Given the description of an element on the screen output the (x, y) to click on. 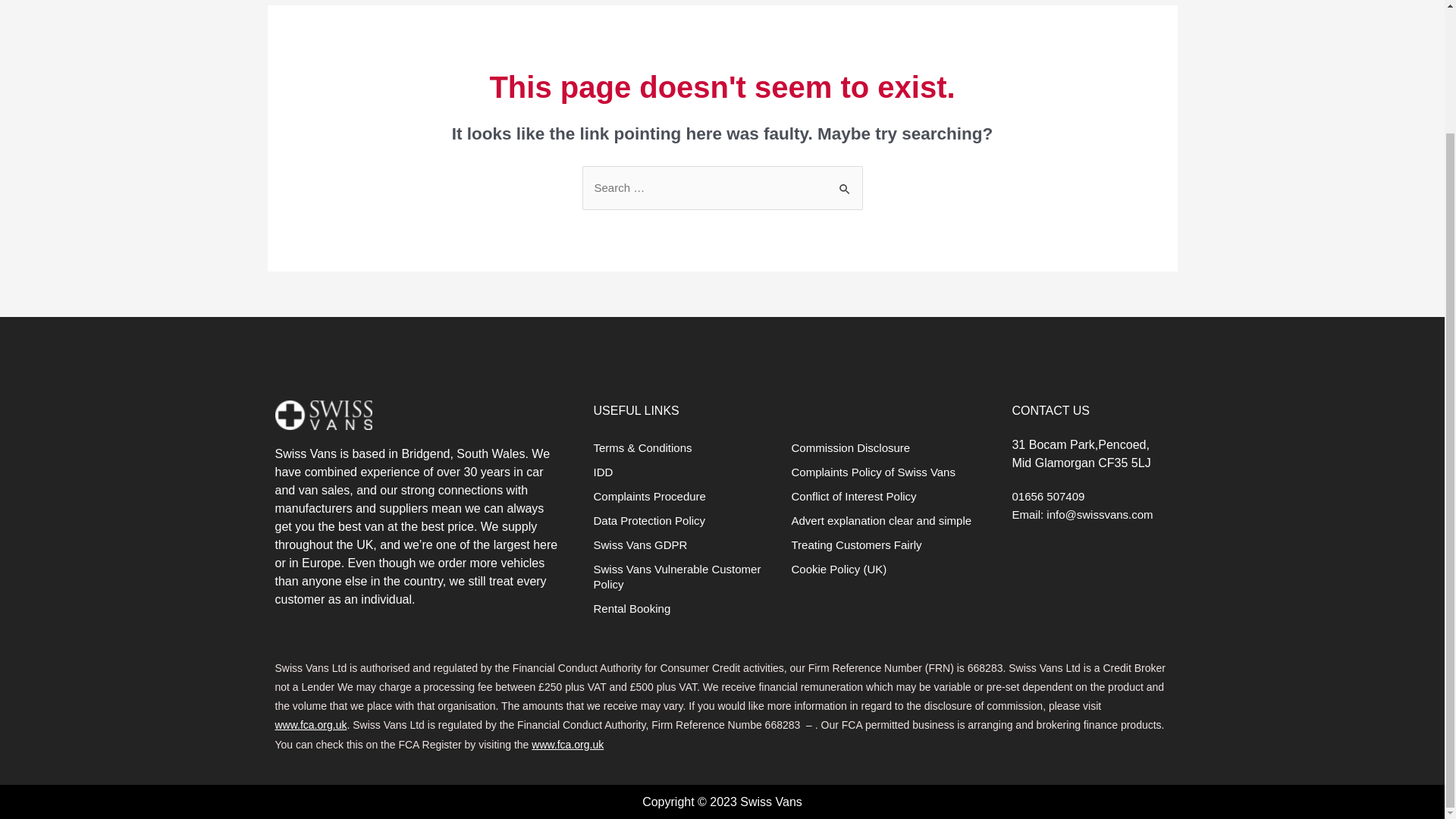
Search (844, 181)
Search (844, 181)
